Given the description of an element on the screen output the (x, y) to click on. 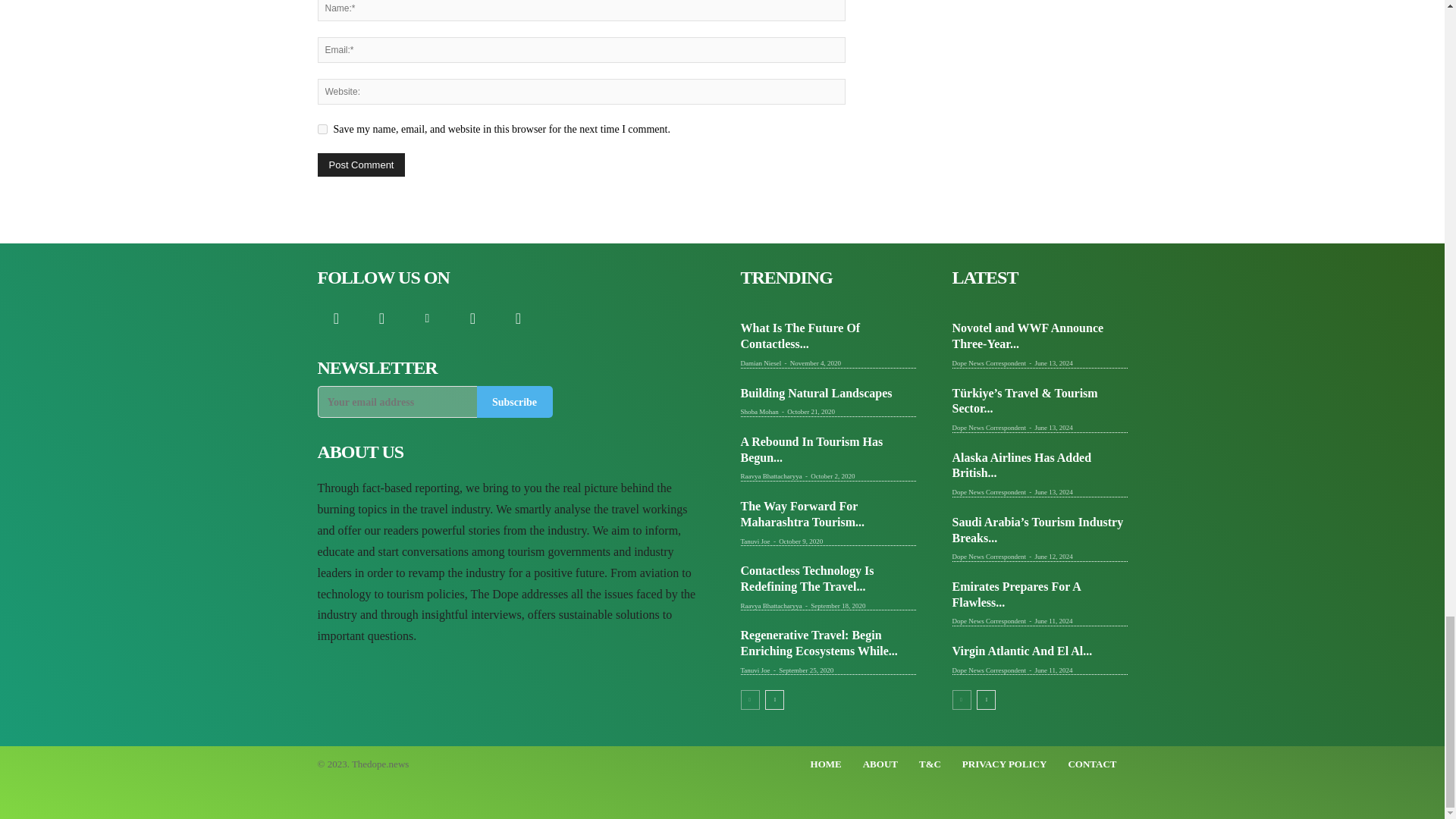
Post Comment (360, 164)
yes (321, 129)
